Given the description of an element on the screen output the (x, y) to click on. 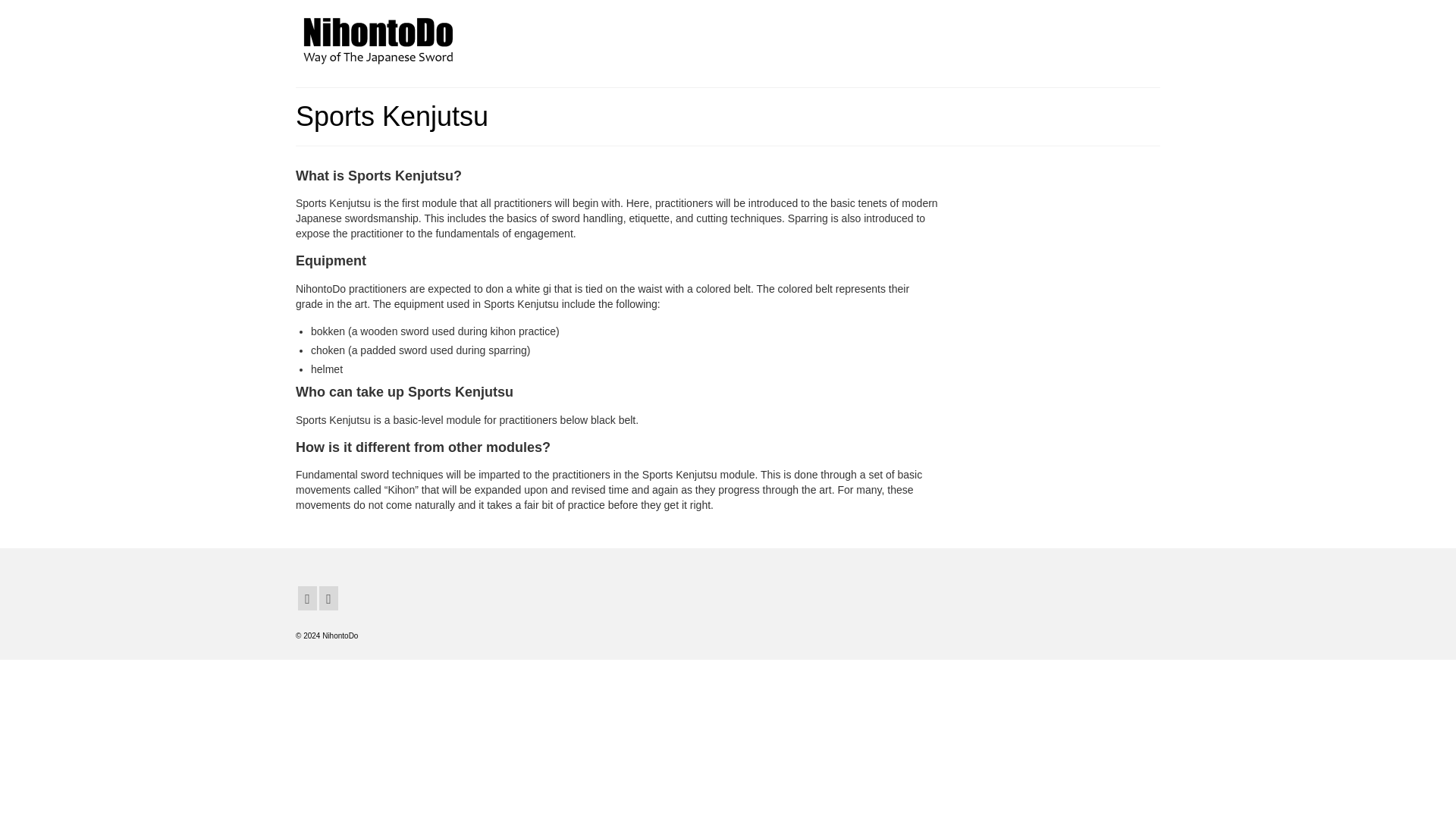
About Us (743, 36)
Ballistic Defense (993, 36)
The NihontoDo Syllabus (859, 36)
Class Schedule (1105, 36)
